Given the description of an element on the screen output the (x, y) to click on. 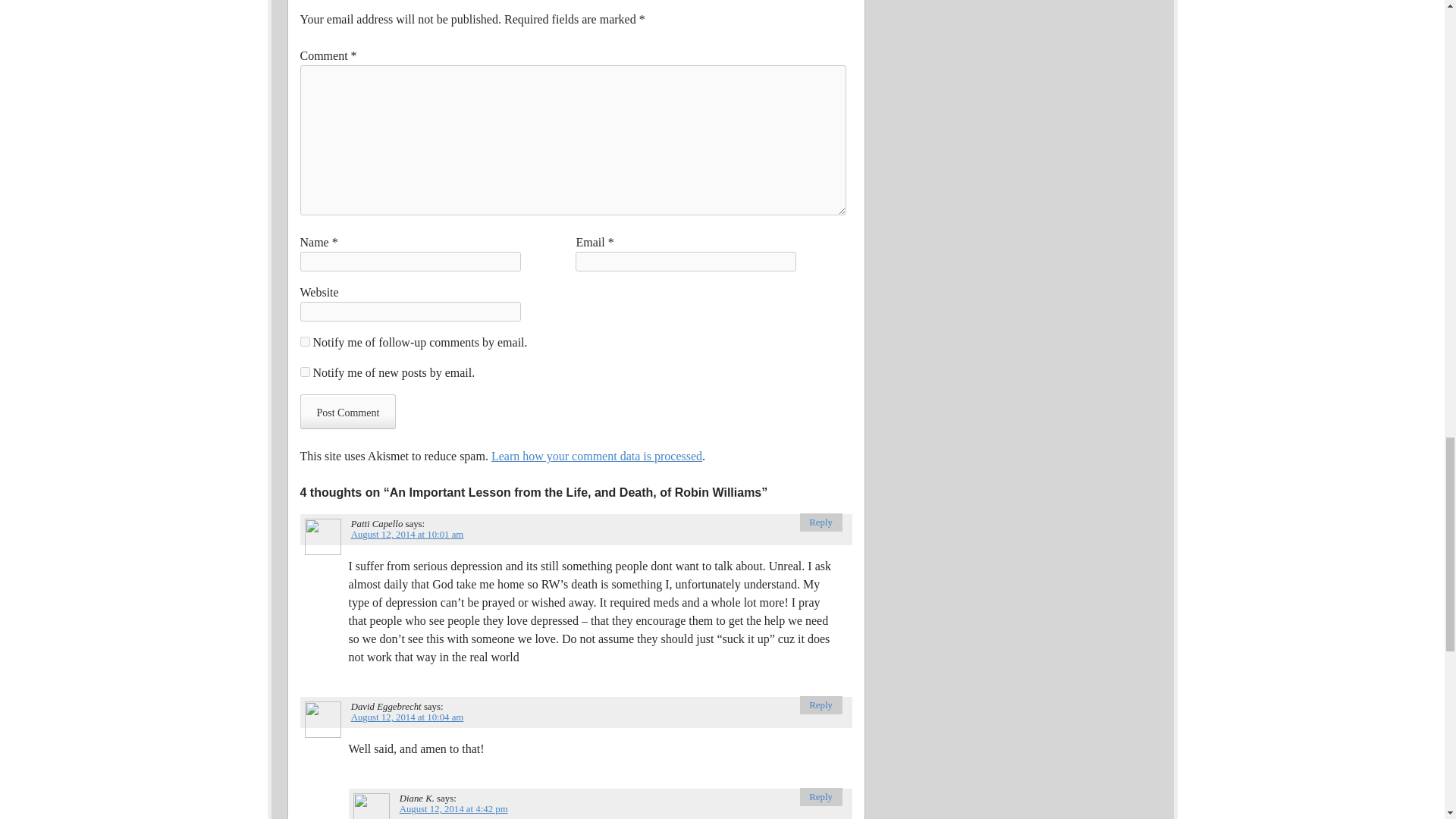
Reply (821, 705)
August 12, 2014 at 10:04 am (407, 716)
Learn how your comment data is processed (596, 455)
August 12, 2014 at 10:01 am (407, 534)
subscribe (304, 341)
subscribe (304, 371)
Post Comment (347, 411)
Post Comment (347, 411)
Reply (821, 522)
